Given the description of an element on the screen output the (x, y) to click on. 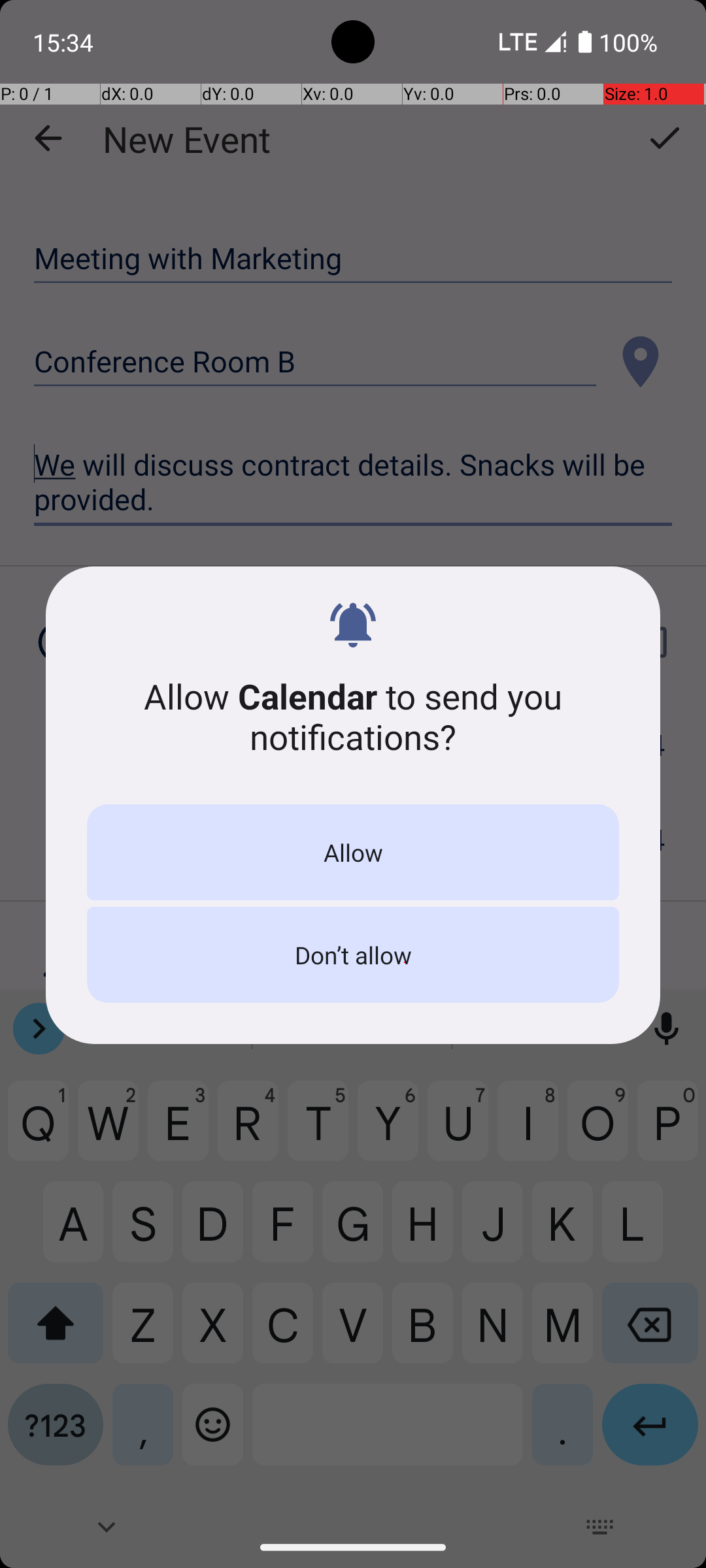
Allow Calendar to send you notifications? Element type: android.widget.TextView (352, 715)
Allow Element type: android.widget.Button (352, 852)
